Given the description of an element on the screen output the (x, y) to click on. 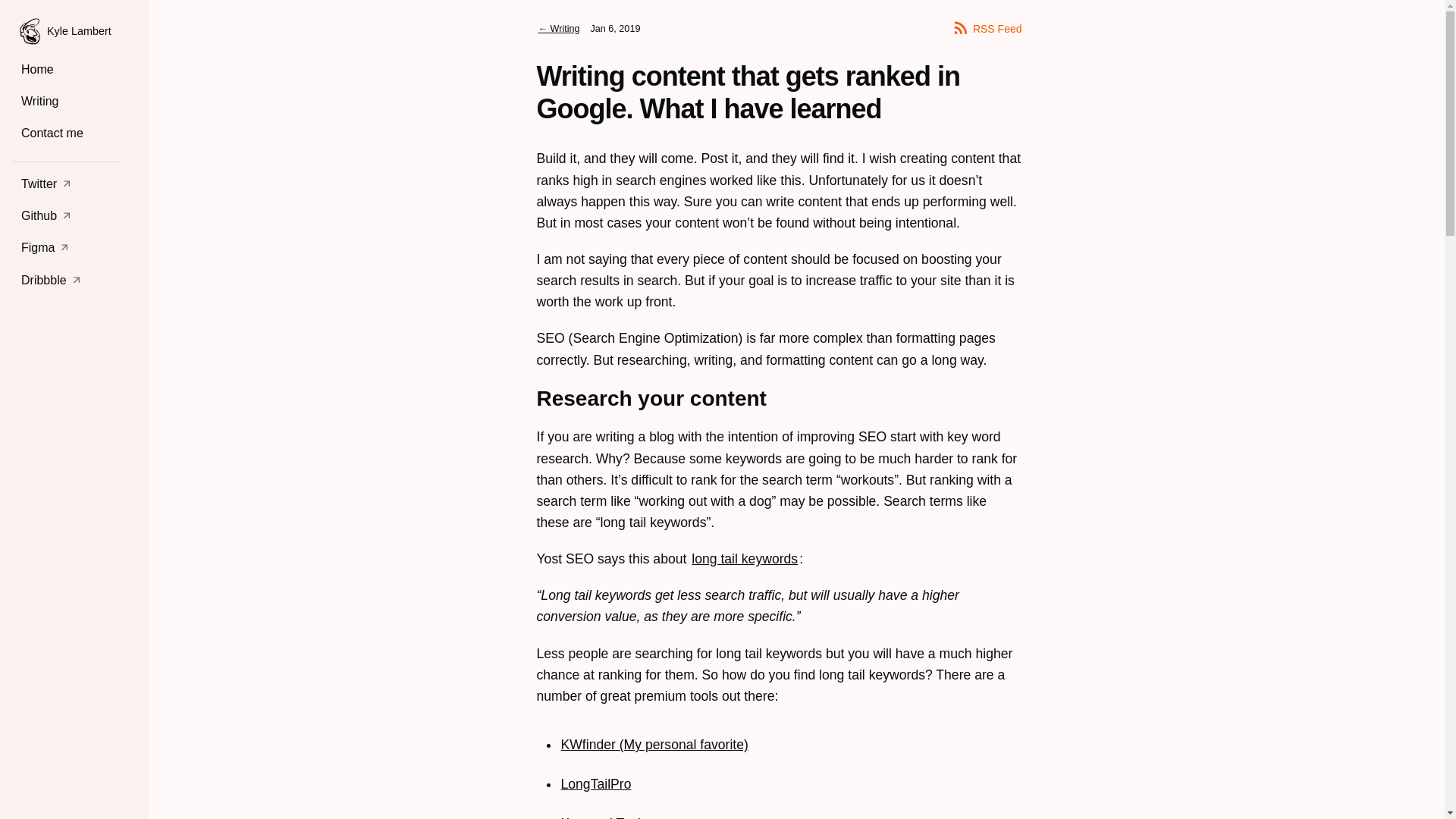
Writing (65, 101)
Twitter (65, 184)
LongTailPro (596, 783)
Figma (65, 248)
Contact me (65, 133)
Keyword Tool (600, 817)
Kyle Lambert (65, 31)
Home (65, 69)
Github (65, 216)
Dribbble (65, 280)
RSS Feed (987, 28)
long tail keywords (744, 558)
